Given the description of an element on the screen output the (x, y) to click on. 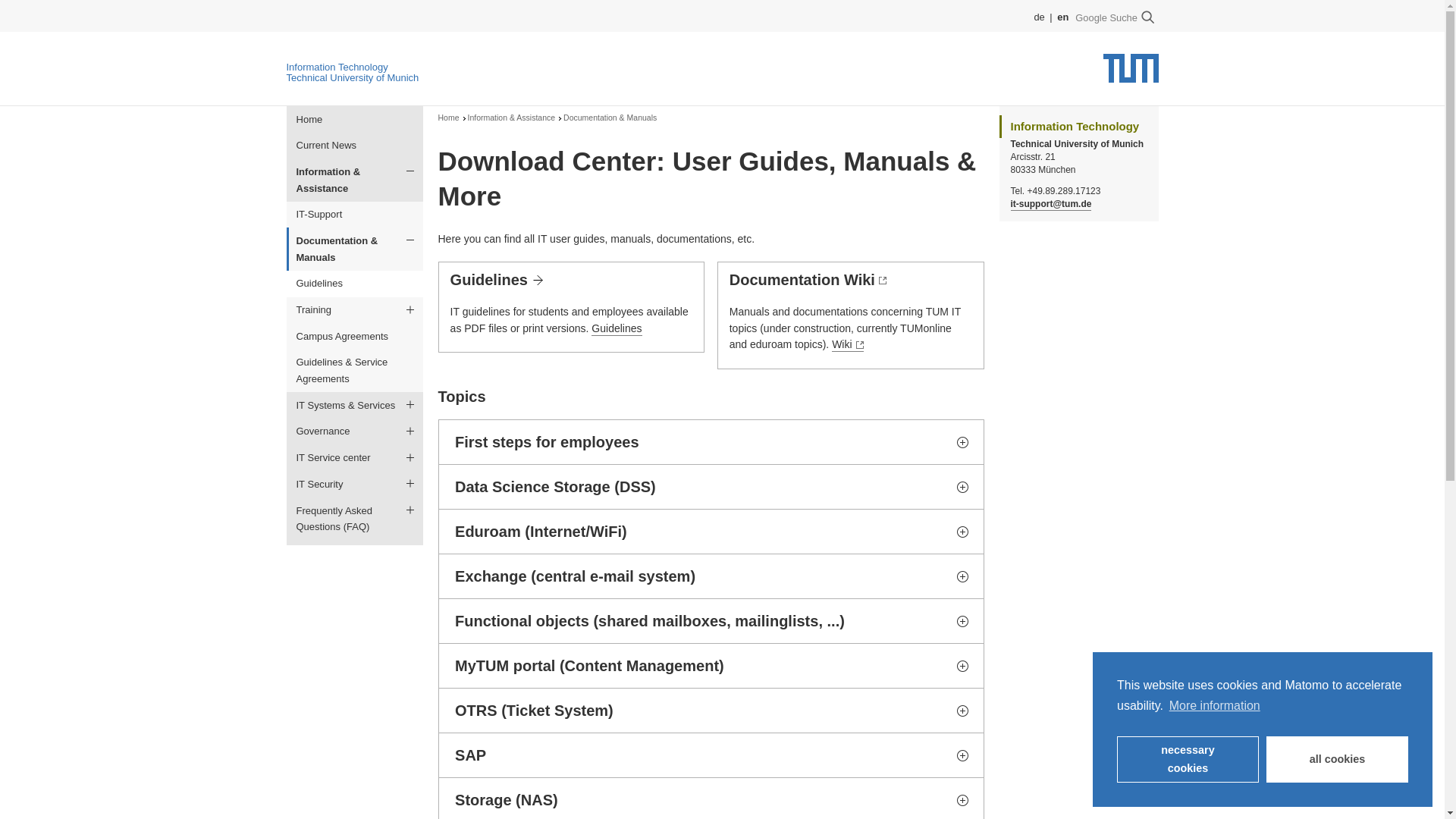
de (1039, 16)
Documentation Wiki (807, 280)
Guidelines (354, 284)
Home (449, 117)
Information Technology (337, 66)
English (1062, 16)
Guidelines (496, 280)
Governance (354, 431)
Home Technical University of Munich (352, 77)
Current News (354, 145)
Guidelines (616, 328)
First steps for employees (710, 442)
IT Security (354, 483)
Home www.tum.de (1129, 73)
Opens external link in new window (847, 345)
